Given the description of an element on the screen output the (x, y) to click on. 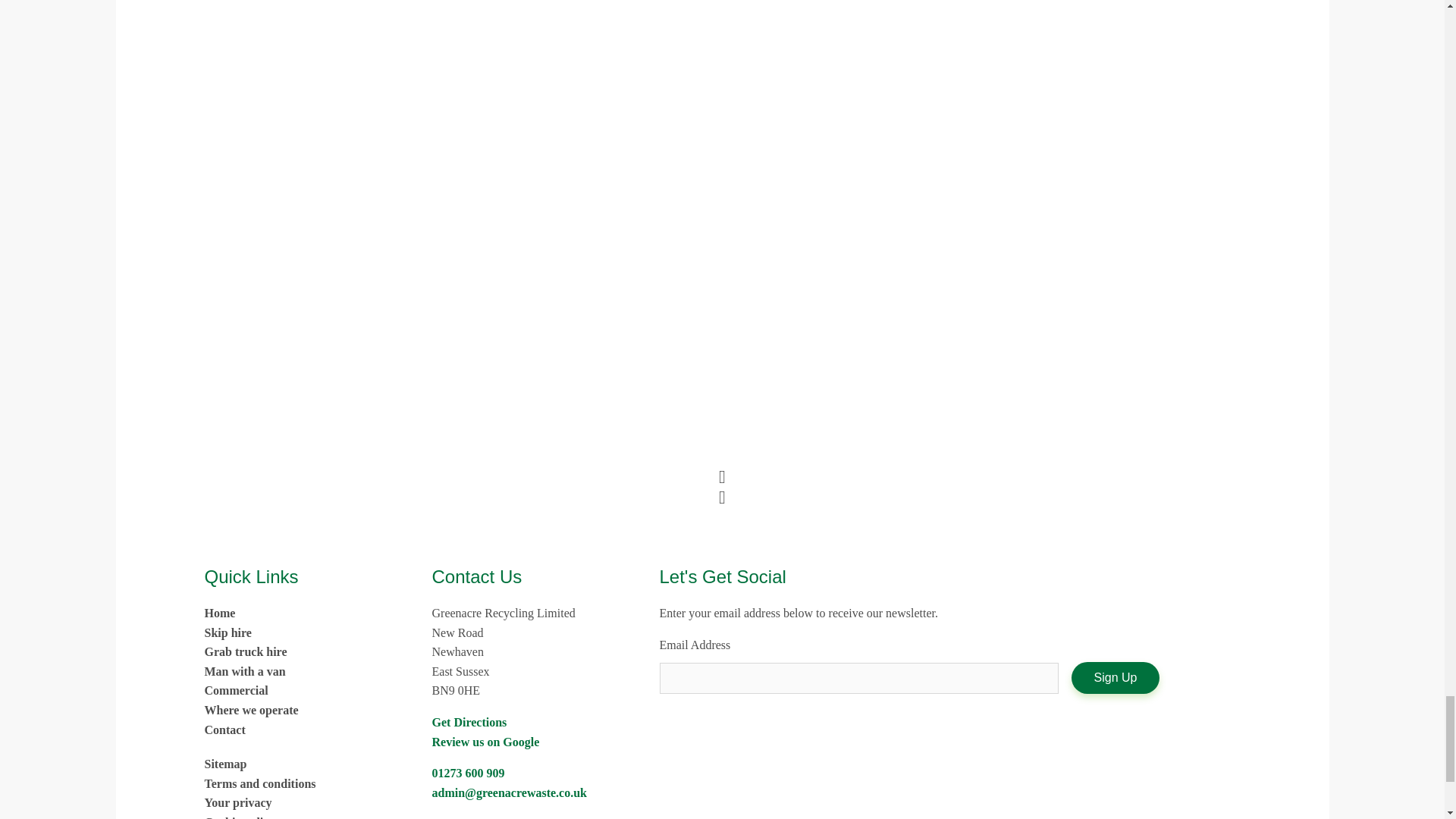
newsletter-signup (858, 677)
